Given the description of an element on the screen output the (x, y) to click on. 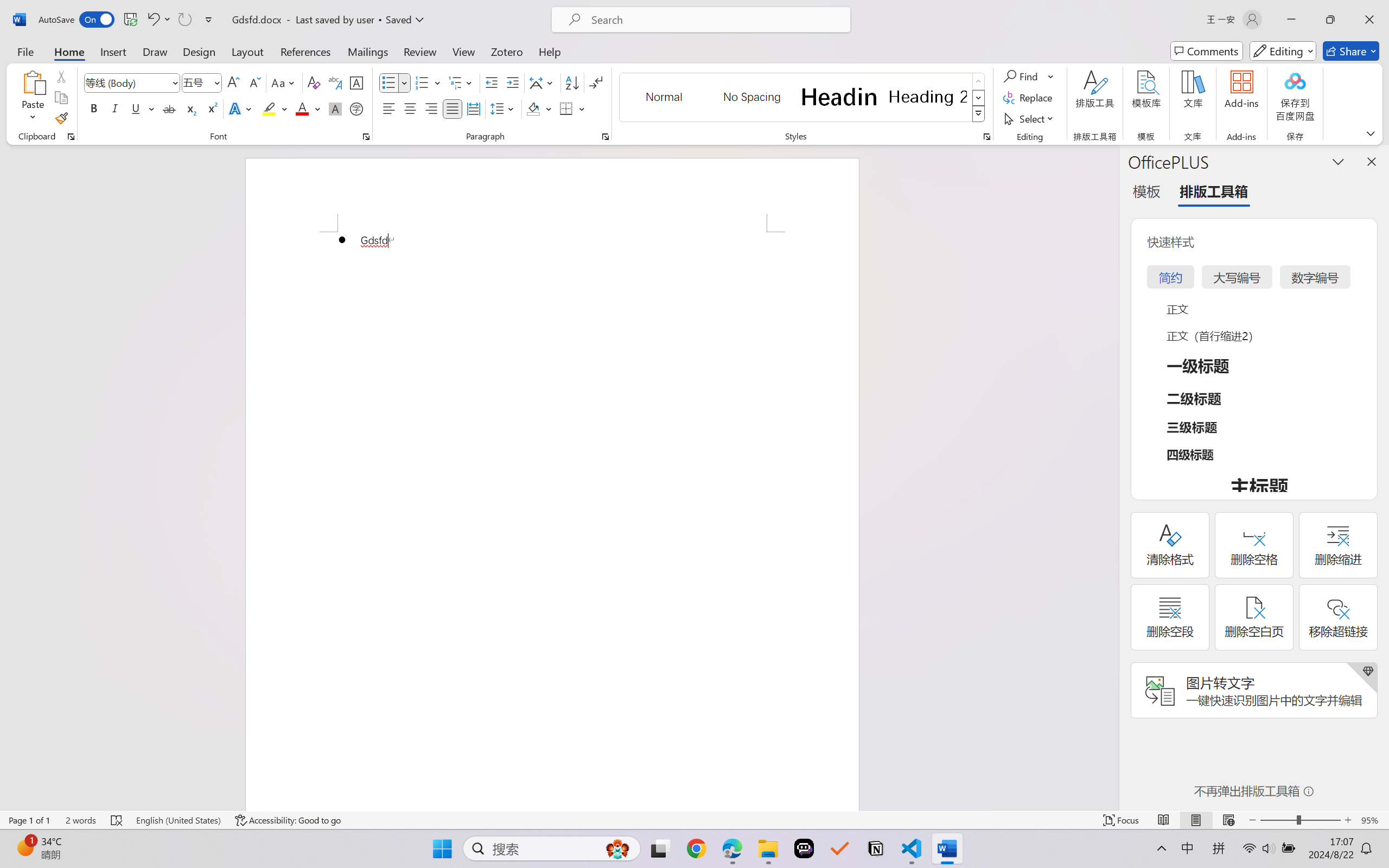
Microsoft search (715, 19)
